Given the description of an element on the screen output the (x, y) to click on. 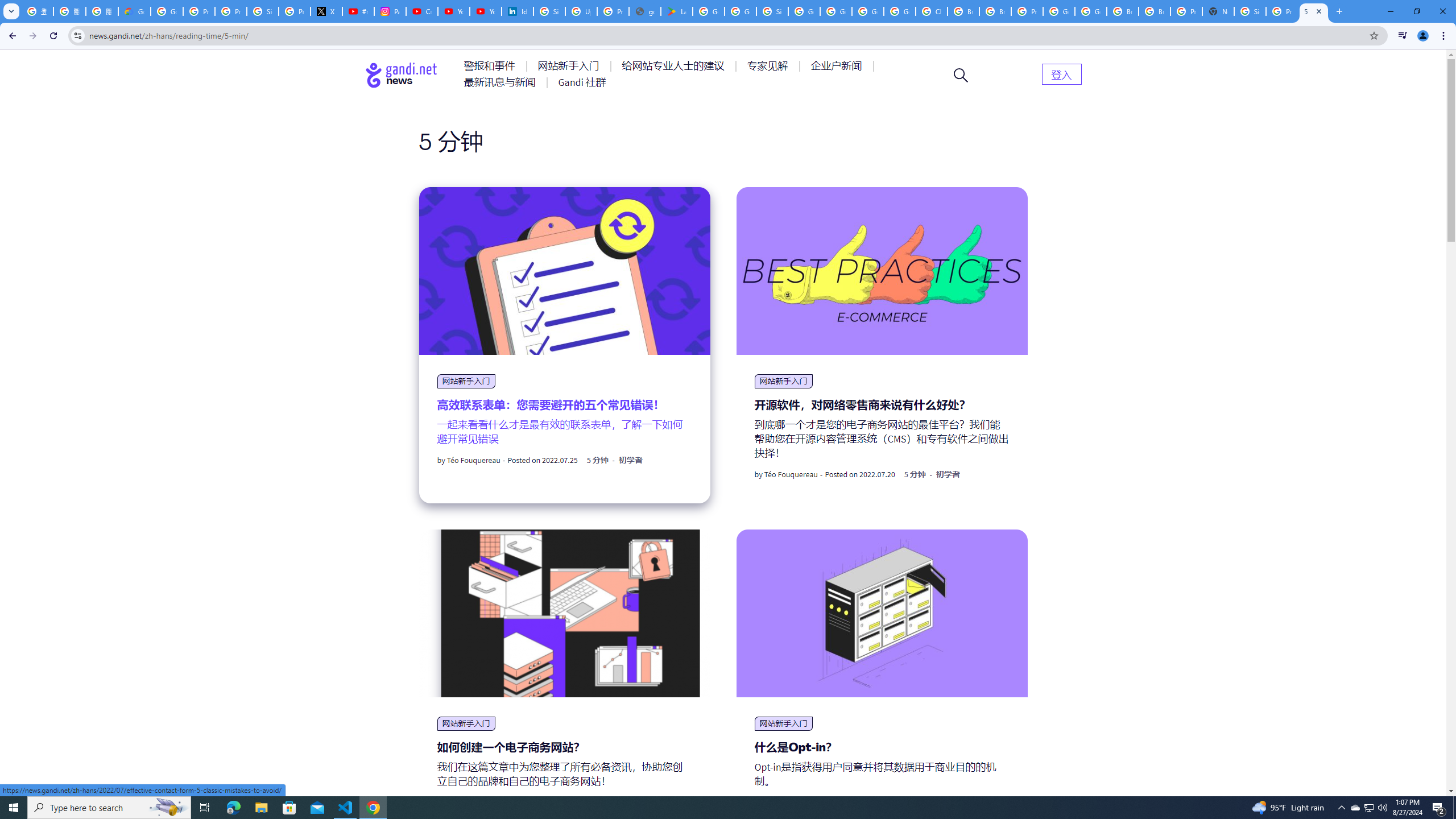
Browse Chrome as a guest - Computer - Google Chrome Help (963, 11)
google_privacy_policy_en.pdf (644, 11)
Forward (32, 35)
Last Shelter: Survival - Apps on Google Play (676, 11)
Google Cloud Platform (868, 11)
Restore (1416, 11)
AutomationID: menu-item-77764 (769, 65)
New Tab (1217, 11)
